Given the description of an element on the screen output the (x, y) to click on. 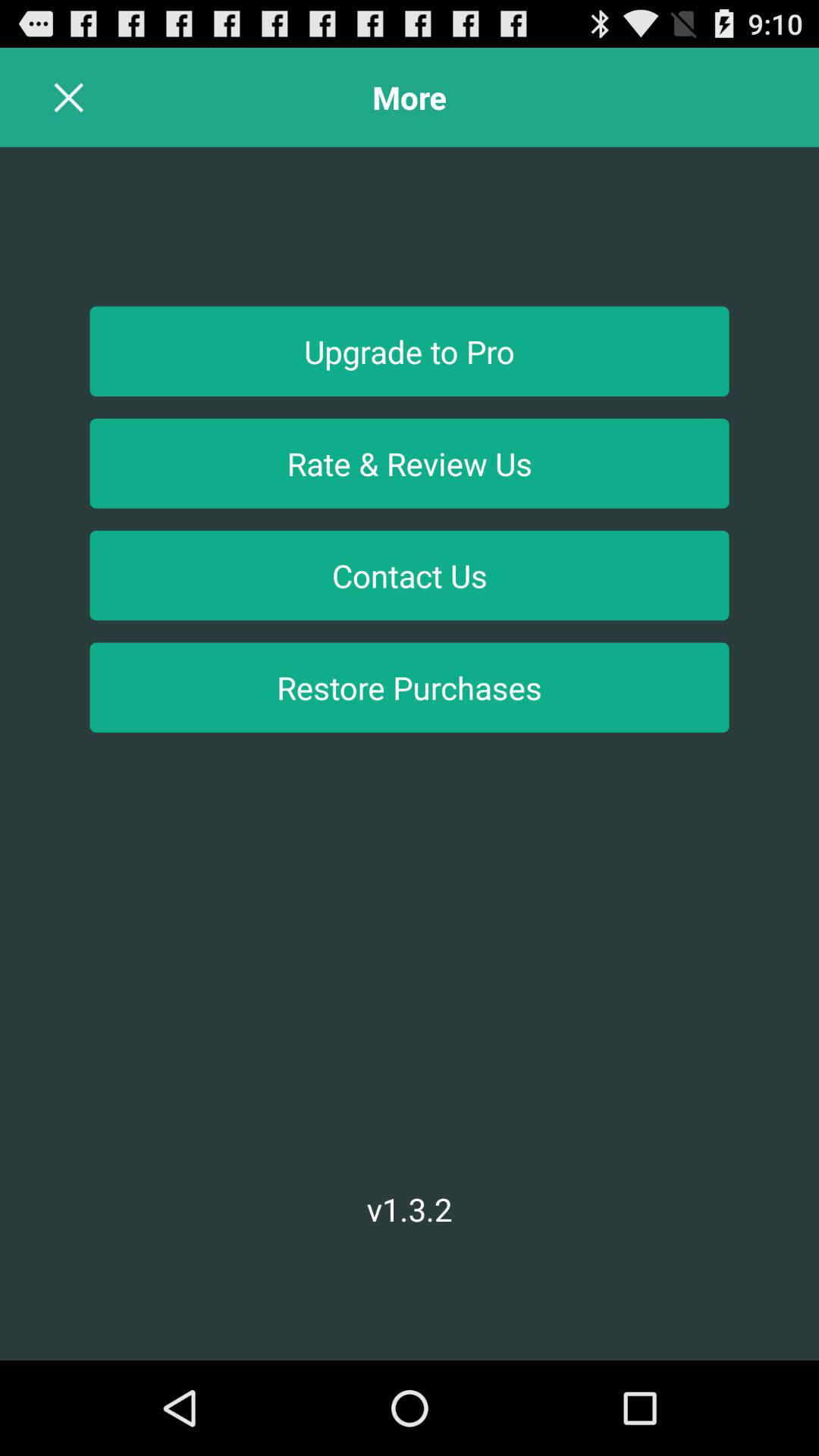
launch button above restore purchases (409, 575)
